Given the description of an element on the screen output the (x, y) to click on. 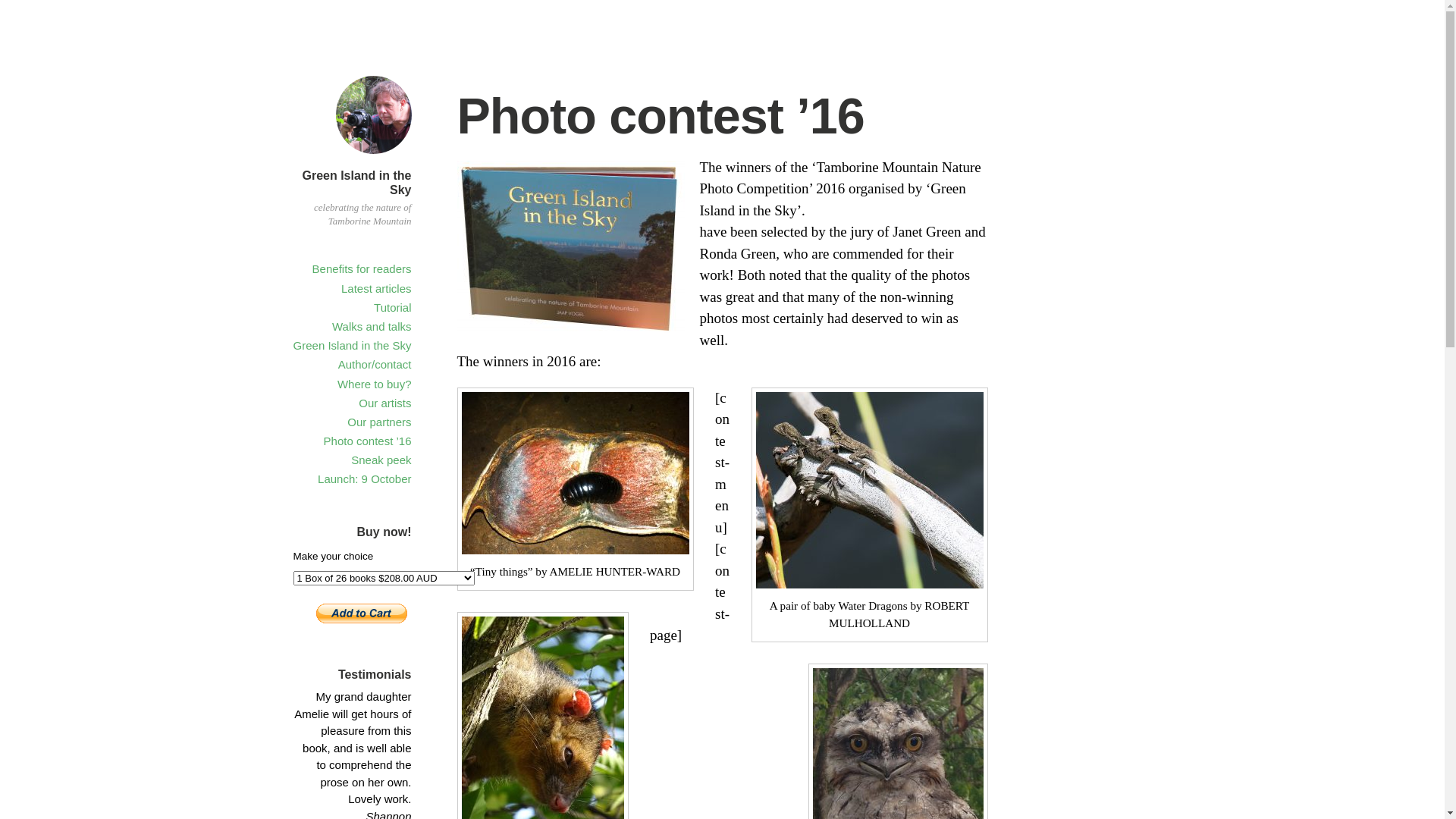
Green Island in the Sky Element type: text (356, 182)
Our partners Element type: text (379, 421)
Benefits for readers Element type: text (361, 268)
Green Island in the Sky Element type: hover (373, 156)
Launch: 9 October Element type: text (364, 478)
Where to buy? Element type: text (374, 383)
Author/contact Element type: text (374, 363)
Our artists Element type: text (384, 402)
Tutorial Element type: text (392, 307)
Latest articles Element type: text (376, 288)
Green Island in the Sky Element type: text (352, 344)
Sneak peek Element type: text (381, 459)
Walks and talks Element type: text (371, 326)
